Given the description of an element on the screen output the (x, y) to click on. 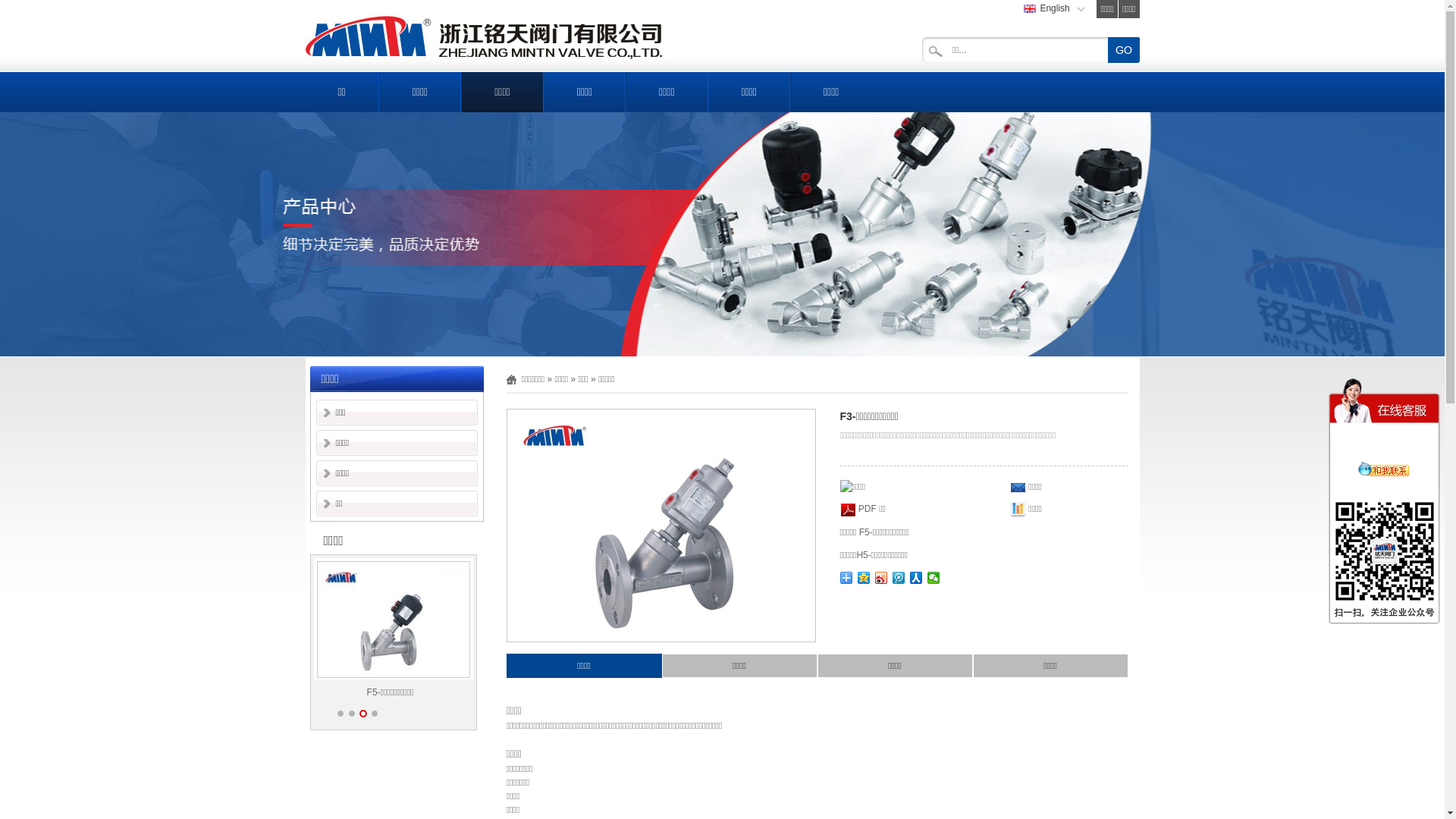
English Element type: text (1051, 8)
